Given the description of an element on the screen output the (x, y) to click on. 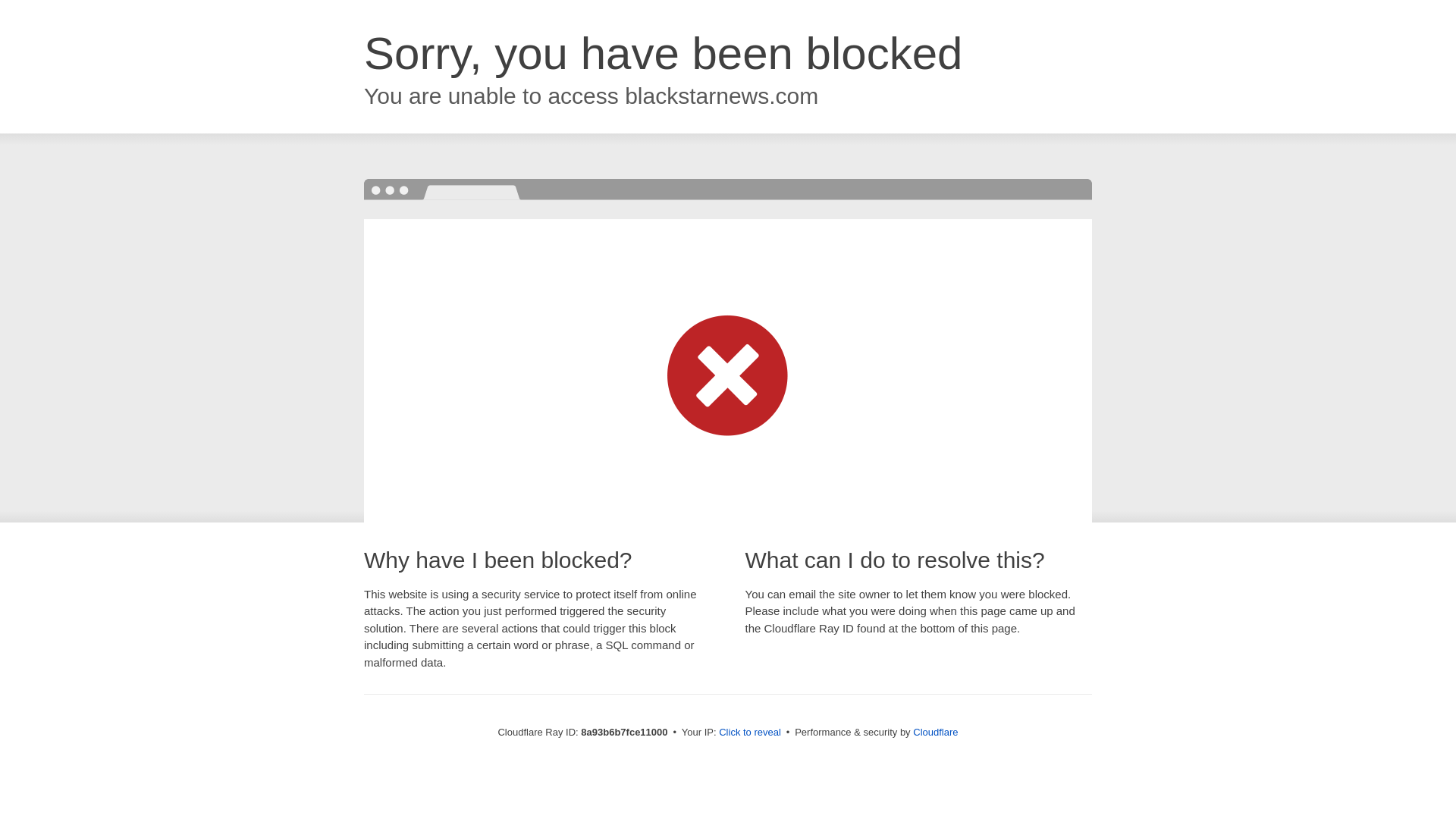
Click to reveal (749, 732)
Cloudflare (935, 731)
